Given the description of an element on the screen output the (x, y) to click on. 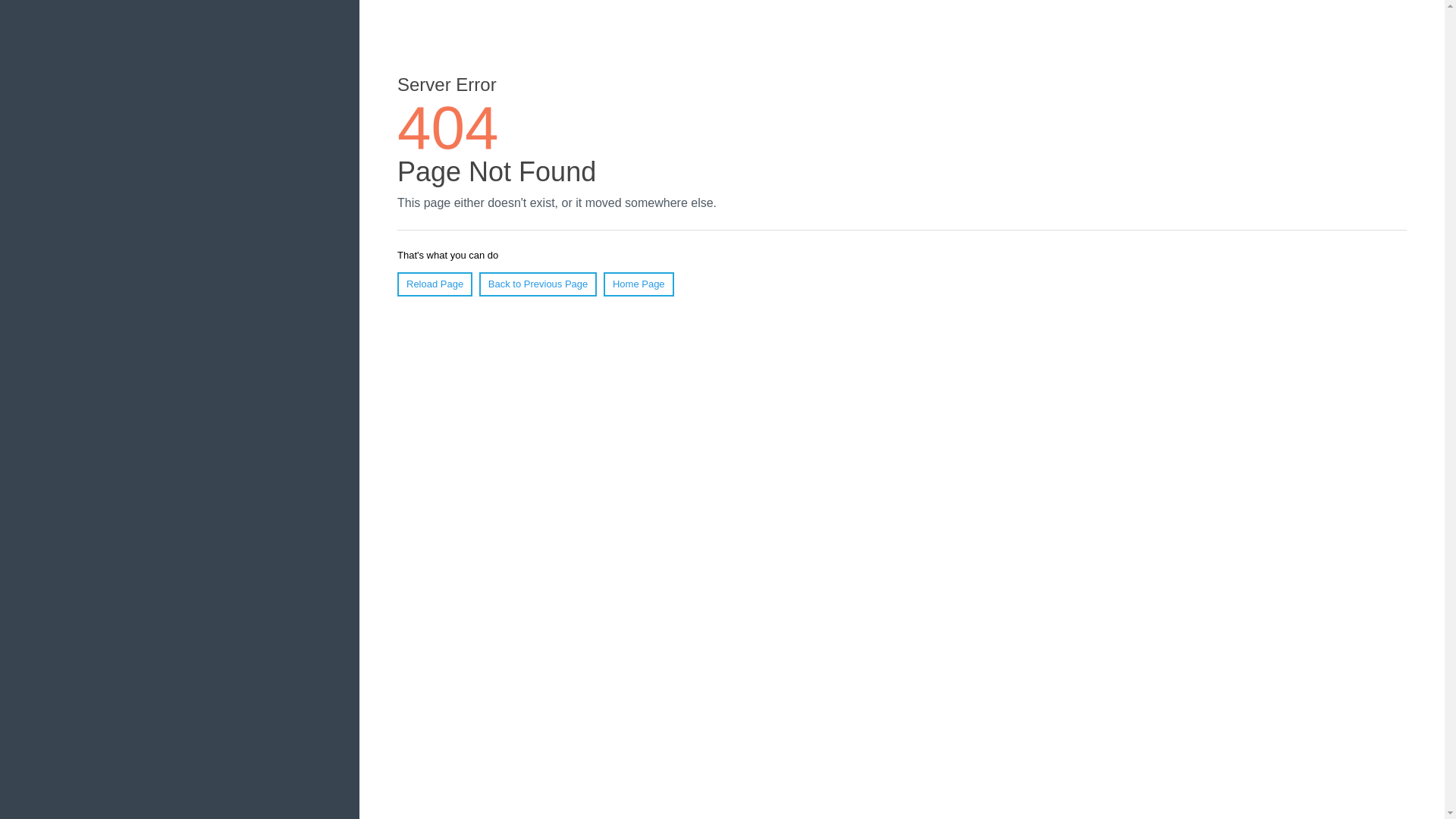
Back to Previous Page (537, 283)
Reload Page (434, 283)
Home Page (639, 283)
